Given the description of an element on the screen output the (x, y) to click on. 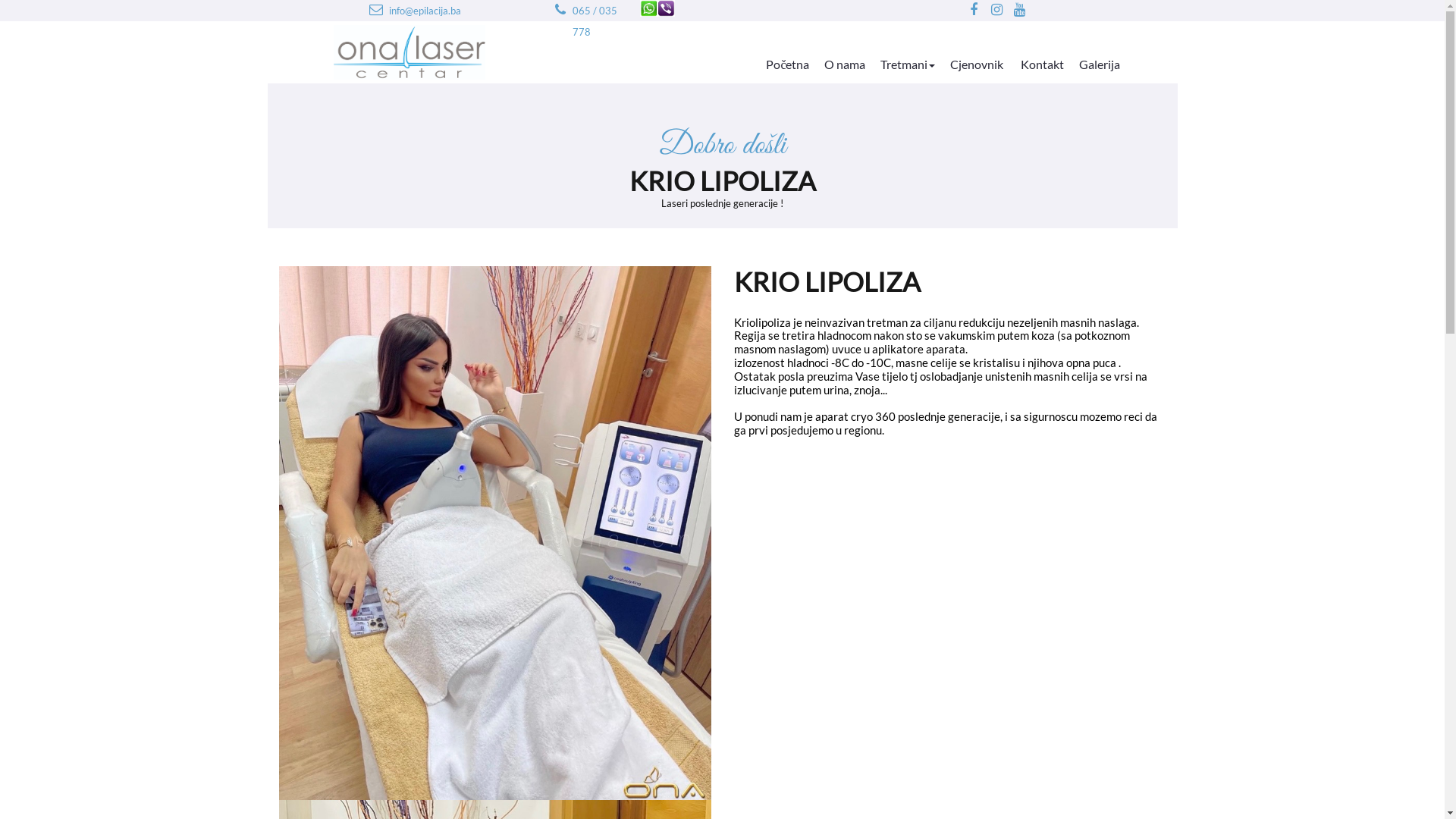
  Element type: text (996, 9)
  Element type: text (375, 9)
Cjenovnik  Element type: text (977, 62)
  Element type: text (1019, 9)
O nama Element type: text (844, 62)
Tretmani Element type: text (907, 62)
Galerija Element type: text (1099, 62)
  Element type: text (559, 9)
  Element type: text (973, 9)
Kontakt Element type: text (1042, 62)
